Given the description of an element on the screen output the (x, y) to click on. 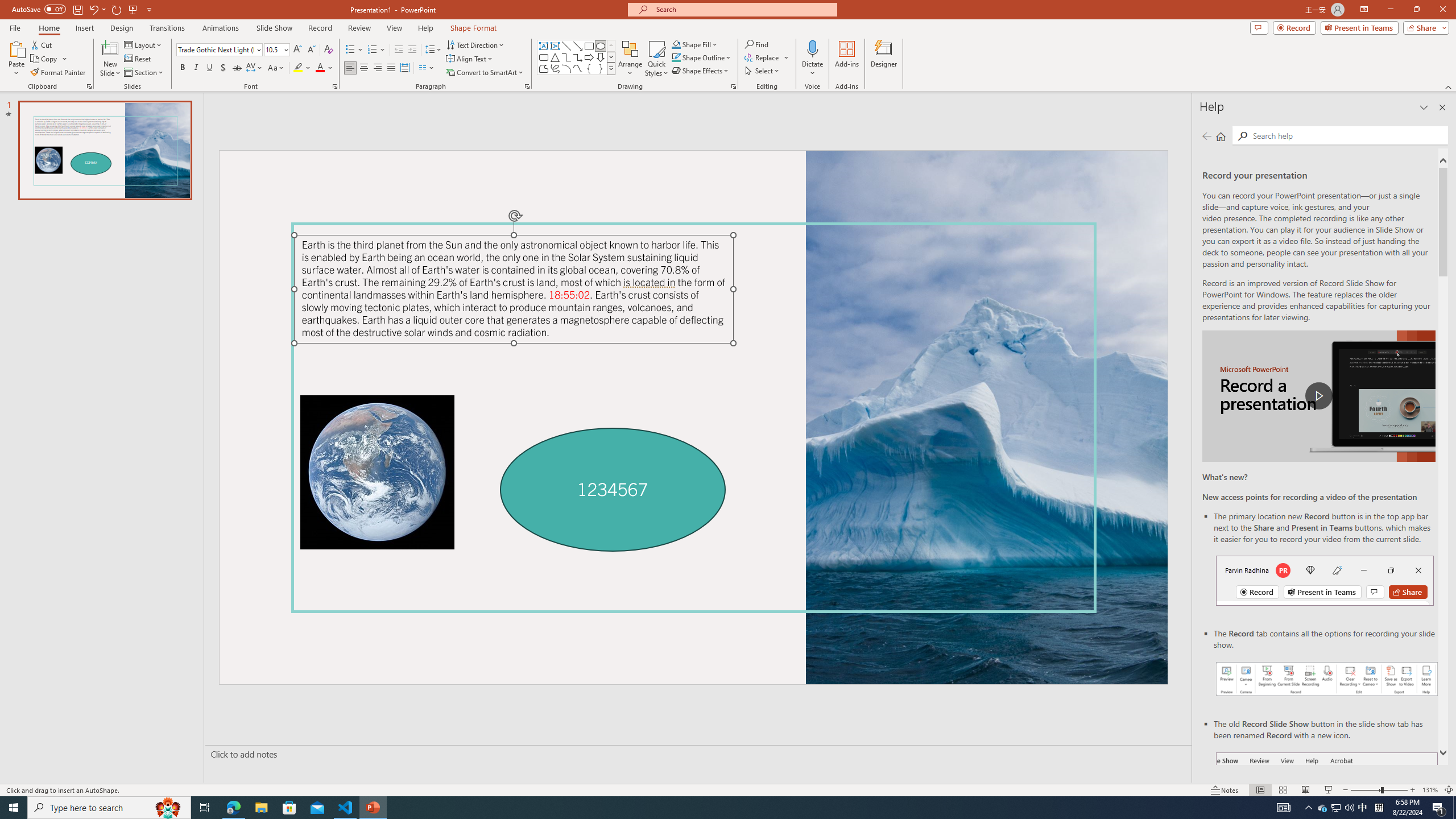
Shape Fill Aqua, Accent 2 (675, 44)
